Given the description of an element on the screen output the (x, y) to click on. 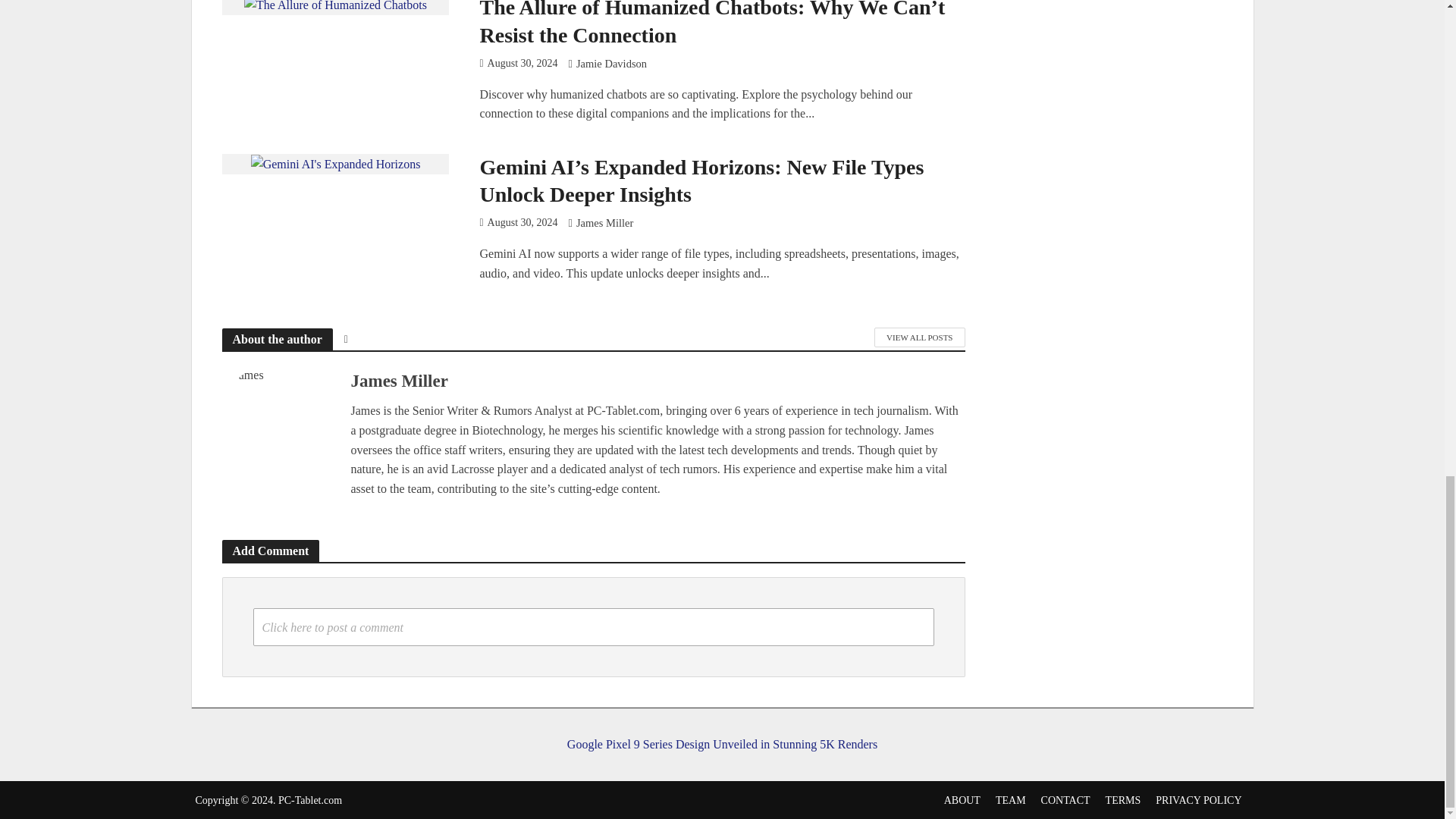
VIEW ALL POSTS (919, 337)
James Miller (604, 224)
Jamie Davidson (611, 64)
Google Pixel 9 Series Design Unveiled in Stunning 5K Renders (721, 730)
